Given the description of an element on the screen output the (x, y) to click on. 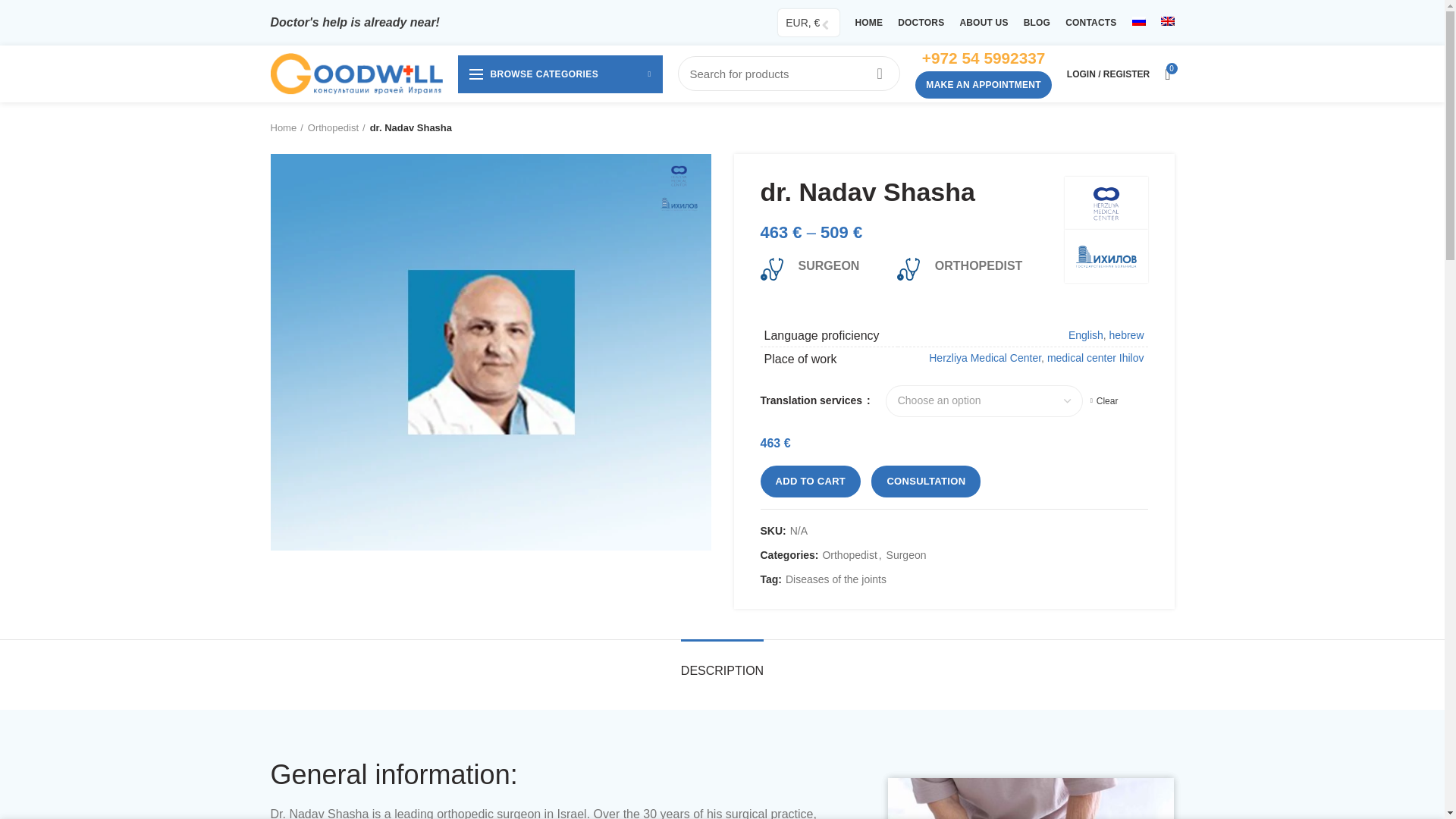
SEARCH (879, 73)
HOME (868, 22)
BLOG (1037, 22)
My account (1108, 73)
CONTACTS (1091, 22)
Nadav Shasha (489, 350)
medicinskij-centr-ihilov-en (679, 204)
DOCTORS (920, 22)
herzliya-medical-center (679, 175)
Herzliya Medical Center (1105, 203)
ABOUT US (983, 22)
medical center Ihilov (1105, 256)
